Given the description of an element on the screen output the (x, y) to click on. 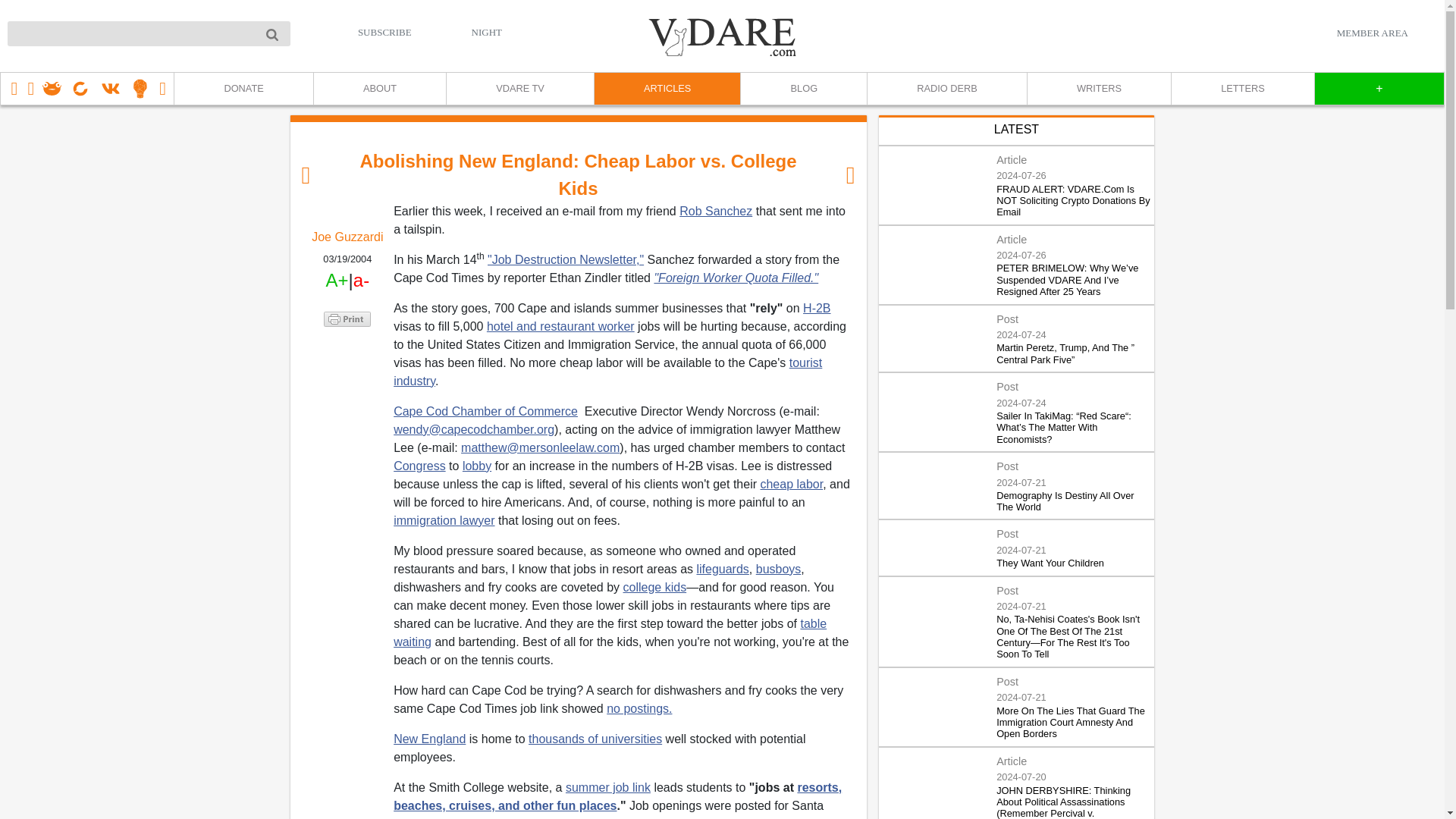
VDARE TV (519, 88)
BLOG (802, 88)
WRITERS (1098, 88)
Share to Email (347, 404)
SUBSCRIBE (385, 31)
RADIO DERB (946, 88)
ABOUT (379, 88)
Printer Friendly and PDF (347, 317)
LETTERS (1242, 88)
MEMBER AREA (1371, 32)
